Given the description of an element on the screen output the (x, y) to click on. 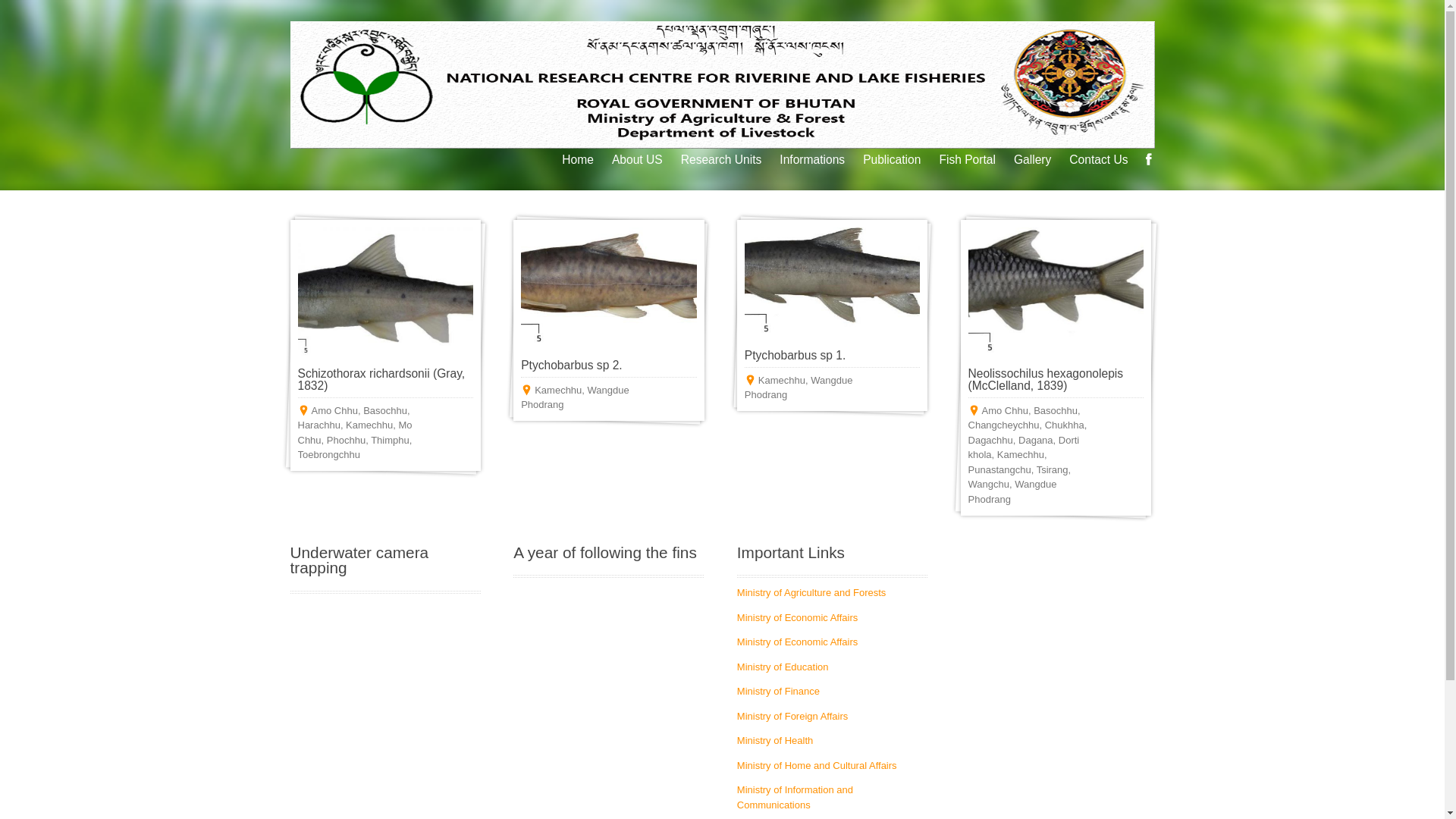
Chukhha Element type: text (1064, 424)
Toebrongchhu Element type: text (328, 454)
Amo Chhu Element type: text (1005, 410)
Wangdue Phodrang Element type: text (1012, 491)
Ptychobarbus sp 2. Element type: text (571, 364)
Punastangchu Element type: text (999, 469)
Publication Element type: text (891, 159)
Dagana Element type: text (1035, 439)
Amo Chhu Element type: text (333, 410)
Kamechhu Element type: text (781, 379)
Wangdue Phodrang Element type: text (574, 397)
Ministry of Information and Communications Element type: text (795, 797)
Contact Us Element type: text (1098, 159)
Facebook Element type: hover (1148, 159)
Ministry of Health Element type: text (774, 740)
Kamechhu Element type: text (557, 389)
Tsirang Element type: text (1052, 469)
Ptychobarbus sp 1. Element type: text (795, 354)
Ministry of Economic Affairs Element type: text (797, 617)
Gallery Element type: text (1032, 159)
Wangdue Phodrang Element type: text (798, 387)
Harachhu Element type: text (318, 424)
Ministry of Home and Cultural Affairs Element type: text (817, 765)
Neolissochilus hexagonolepis (McClelland, 1839) Element type: text (1045, 379)
Kamechhu Element type: text (368, 424)
Schizothorax richardsonii (Gray, 1832) Element type: text (380, 379)
Basochhu Element type: text (1055, 410)
Kamechhu Element type: text (1020, 454)
Fish Portal Element type: text (966, 159)
About US Element type: text (637, 159)
Phochhu Element type: text (345, 439)
Basochhu Element type: text (385, 410)
Informations Element type: text (811, 159)
Ministry of Education Element type: text (782, 666)
Home Element type: text (577, 159)
Dorti khola Element type: text (1023, 447)
Mo Chhu Element type: text (354, 432)
Ministry of Agriculture and Forests Element type: text (811, 592)
Thimphu Element type: text (389, 439)
Ministry of Foreign Affairs Element type: text (792, 715)
Changcheychhu Element type: text (1003, 424)
Research Units Element type: text (721, 159)
Ministry of Finance Element type: text (778, 690)
Ministry of Economic Affairs Element type: text (797, 641)
Dagachhu Element type: text (990, 439)
Wangchu Element type: text (988, 483)
